Given the description of an element on the screen output the (x, y) to click on. 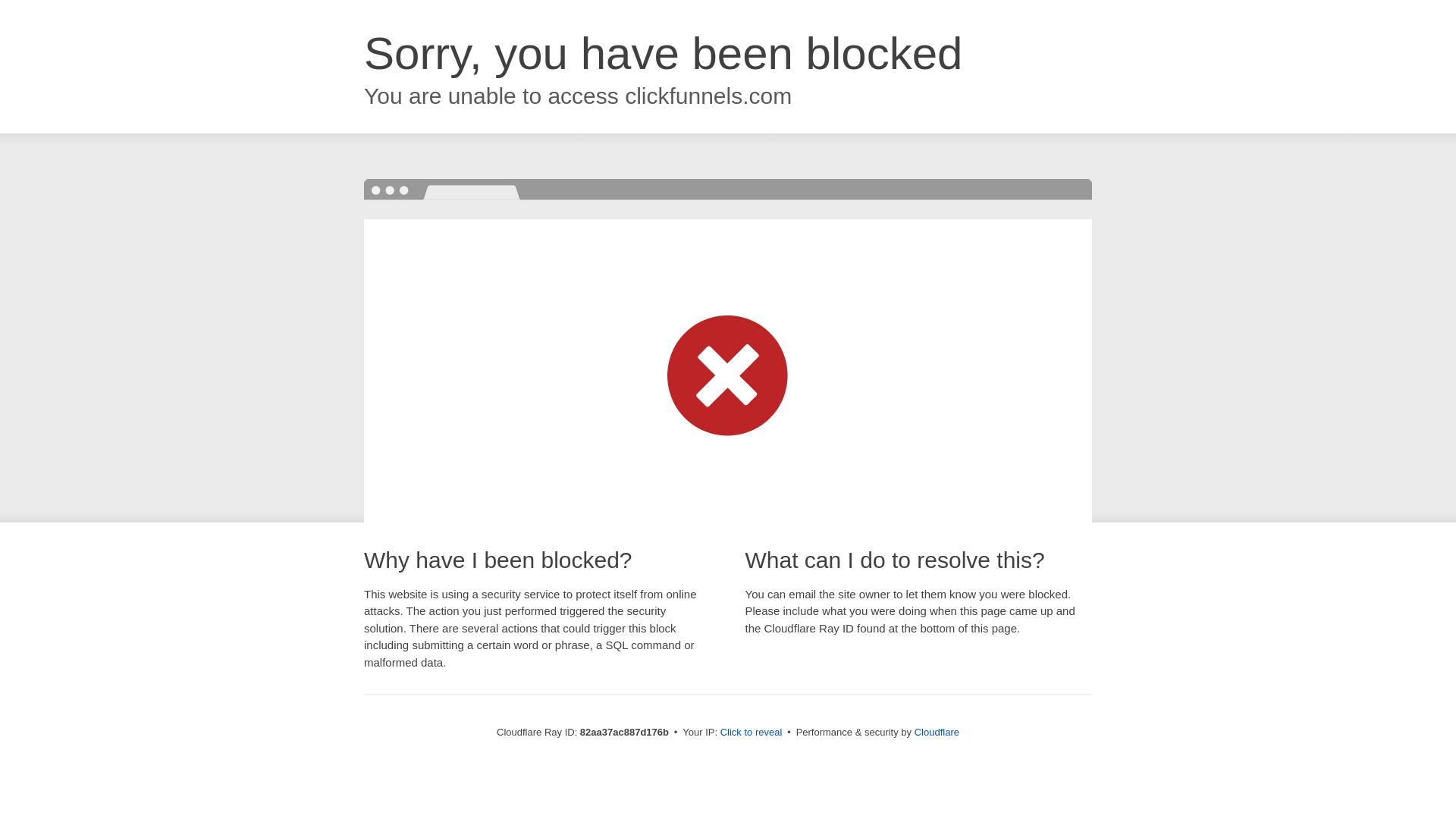
Click to reveal Element type: text (751, 732)
Cloudflare Element type: text (936, 731)
